Given the description of an element on the screen output the (x, y) to click on. 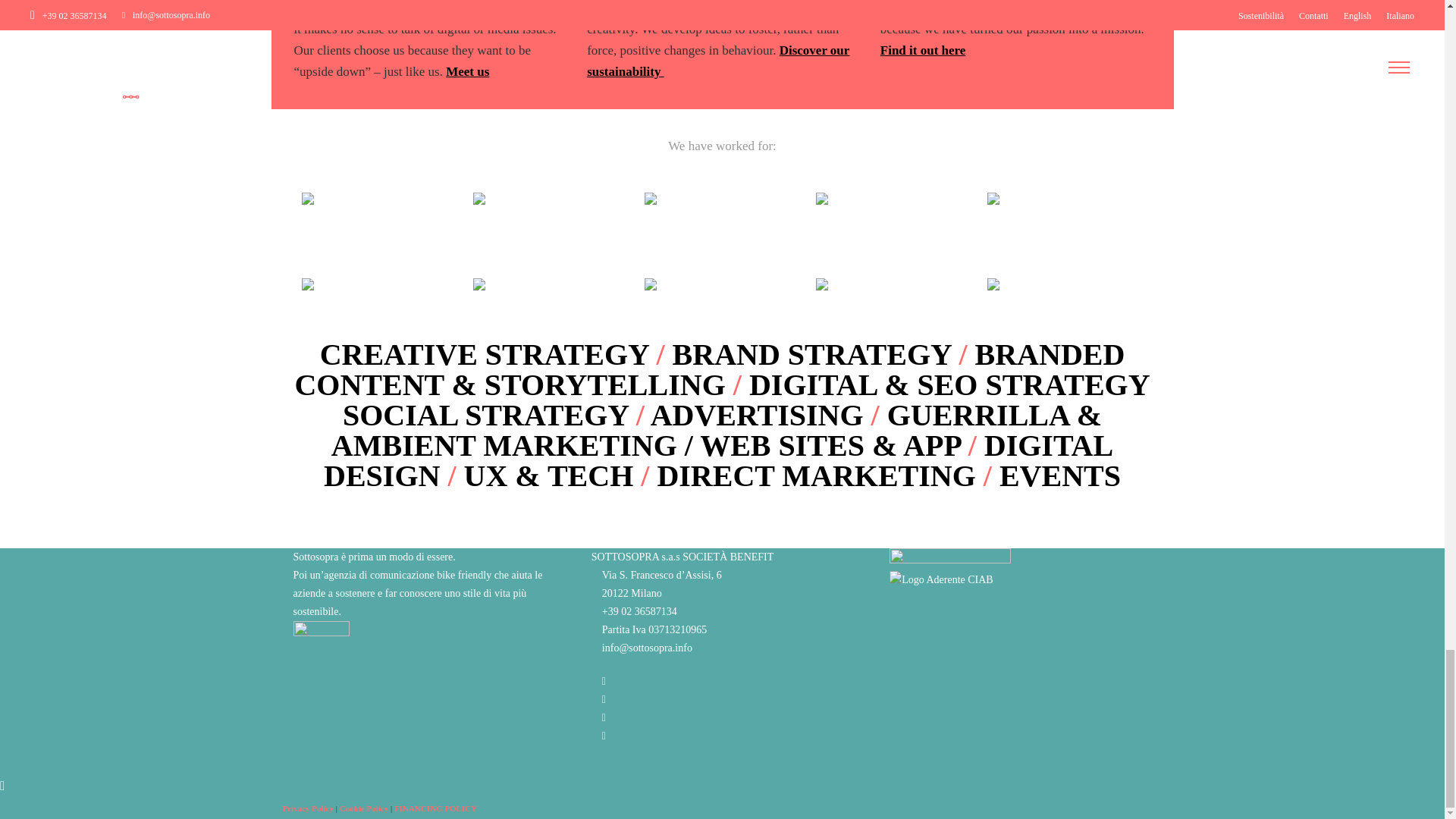
Discover our sustainability  (717, 59)
Find it out here (923, 49)
Meet us (467, 70)
Privacy Policy  (307, 808)
Cookie Policy  (363, 808)
